Given the description of an element on the screen output the (x, y) to click on. 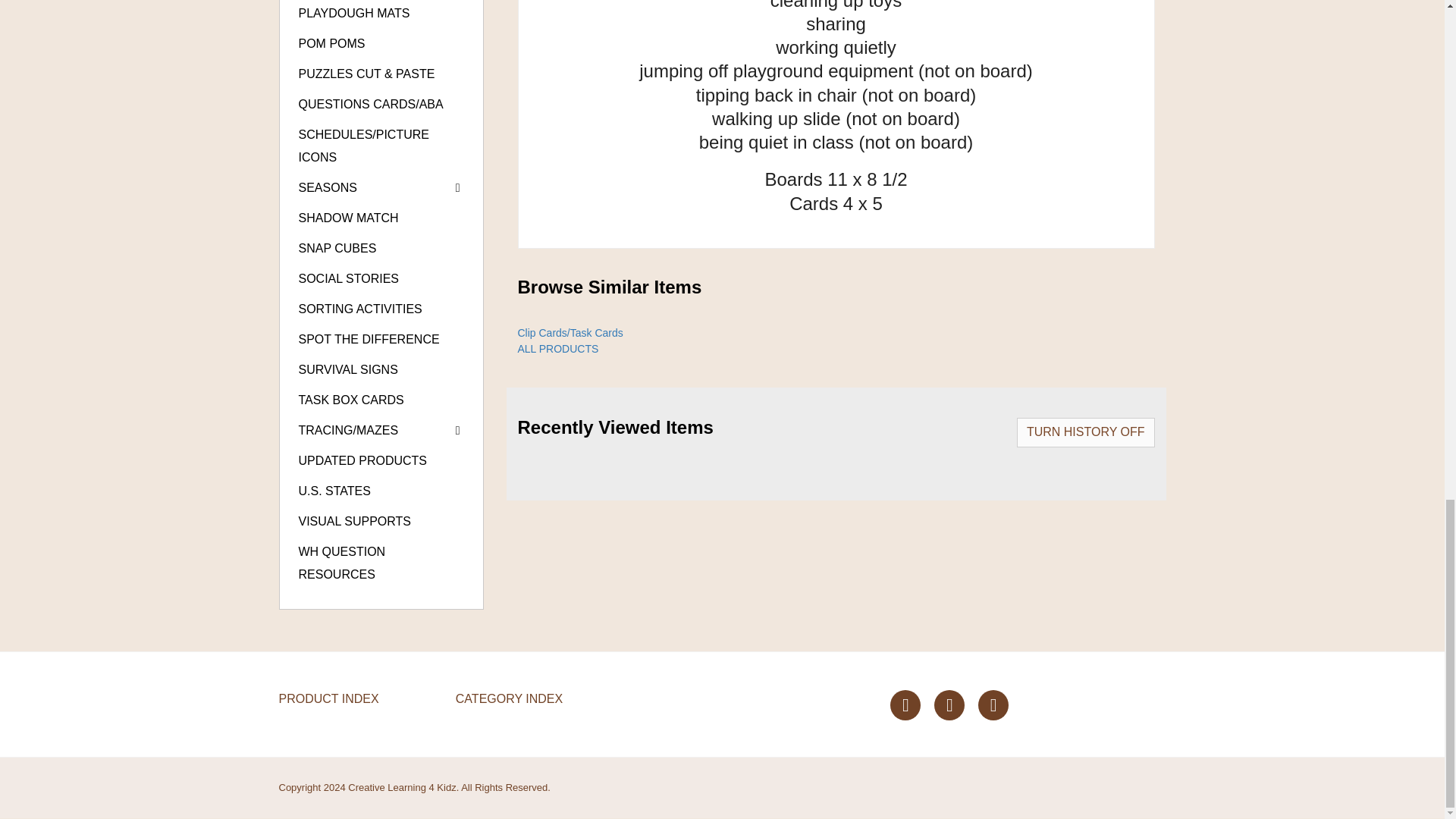
Like Us on Facebook (904, 705)
Follow Us on Pinterest (948, 705)
Follow Us on Instagram (993, 705)
